Given the description of an element on the screen output the (x, y) to click on. 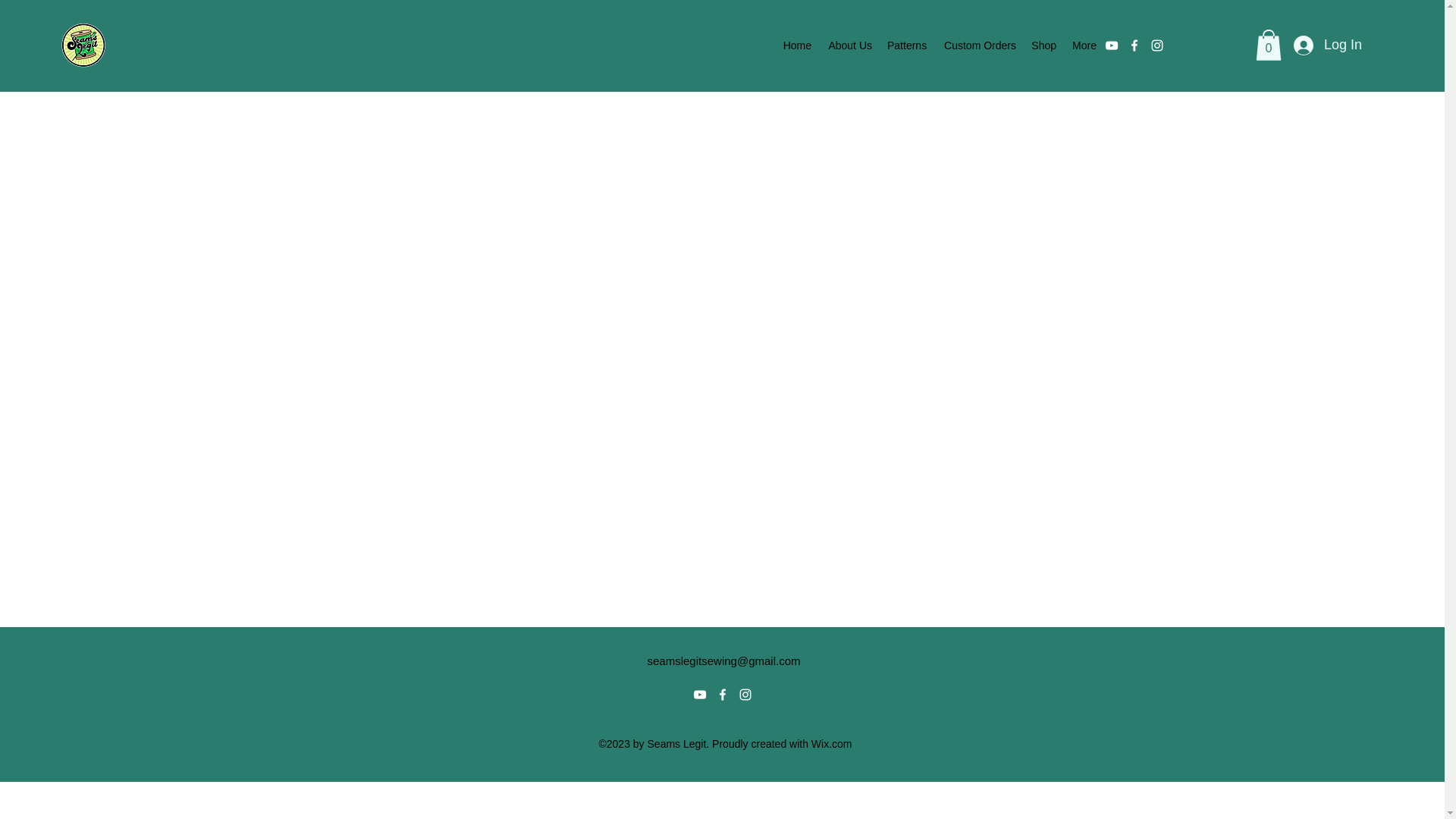
Shop (1043, 45)
0 (1268, 44)
Custom Orders (978, 45)
About Us (848, 45)
0 (1268, 44)
Log In (1327, 45)
Patterns (906, 45)
Home (796, 45)
